Given the description of an element on the screen output the (x, y) to click on. 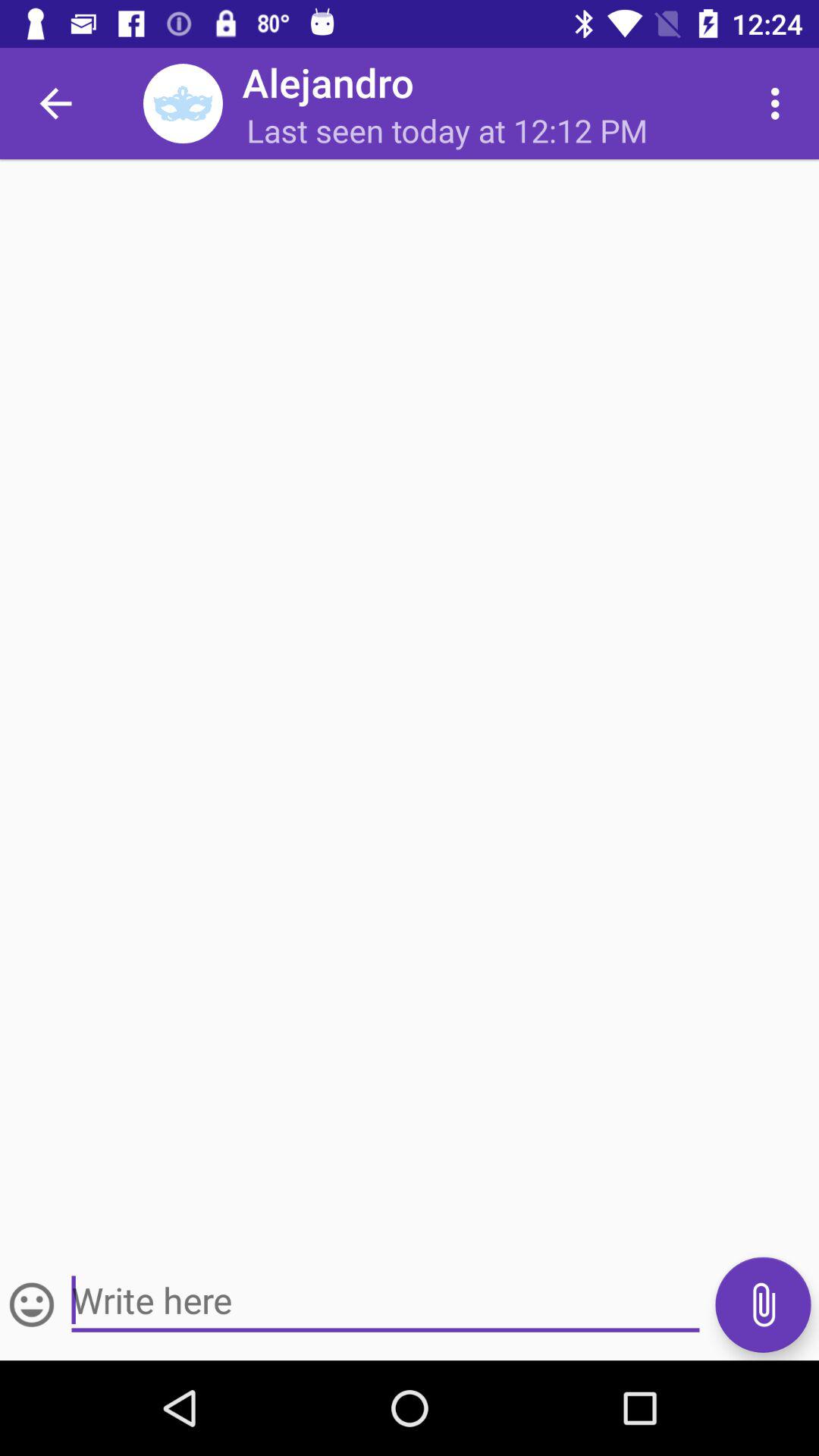
select emojis (31, 1304)
